Given the description of an element on the screen output the (x, y) to click on. 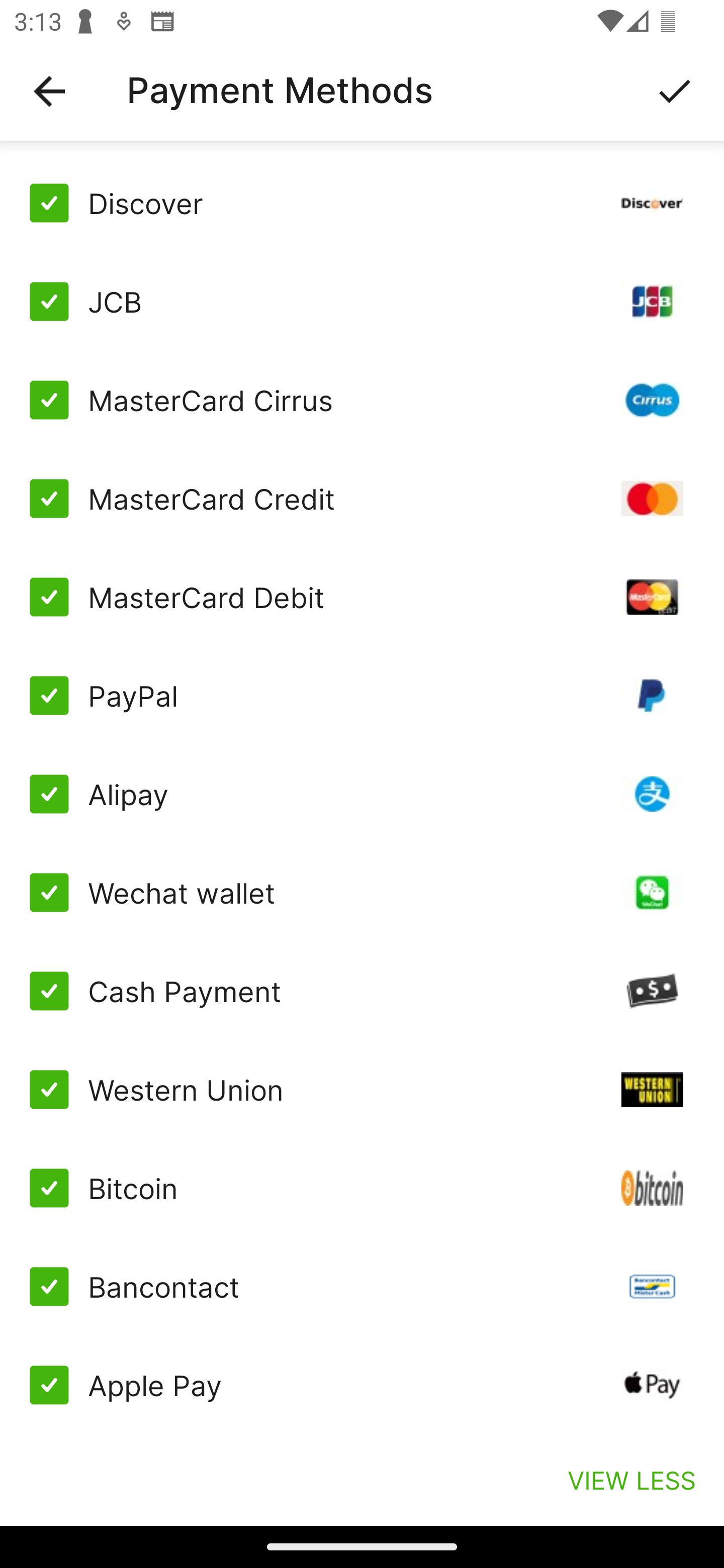
Discover (362, 202)
JCB (362, 301)
MasterCard Cirrus (362, 400)
MasterCard Credit (362, 498)
MasterCard Debit (362, 596)
PayPal (362, 695)
Alipay (362, 793)
Wechat wallet (362, 892)
Cash Payment (362, 990)
Western Union (362, 1088)
Bitcoin (362, 1187)
Bancontact (362, 1286)
Apple Pay (362, 1384)
VIEW LESS (631, 1479)
